Given the description of an element on the screen output the (x, y) to click on. 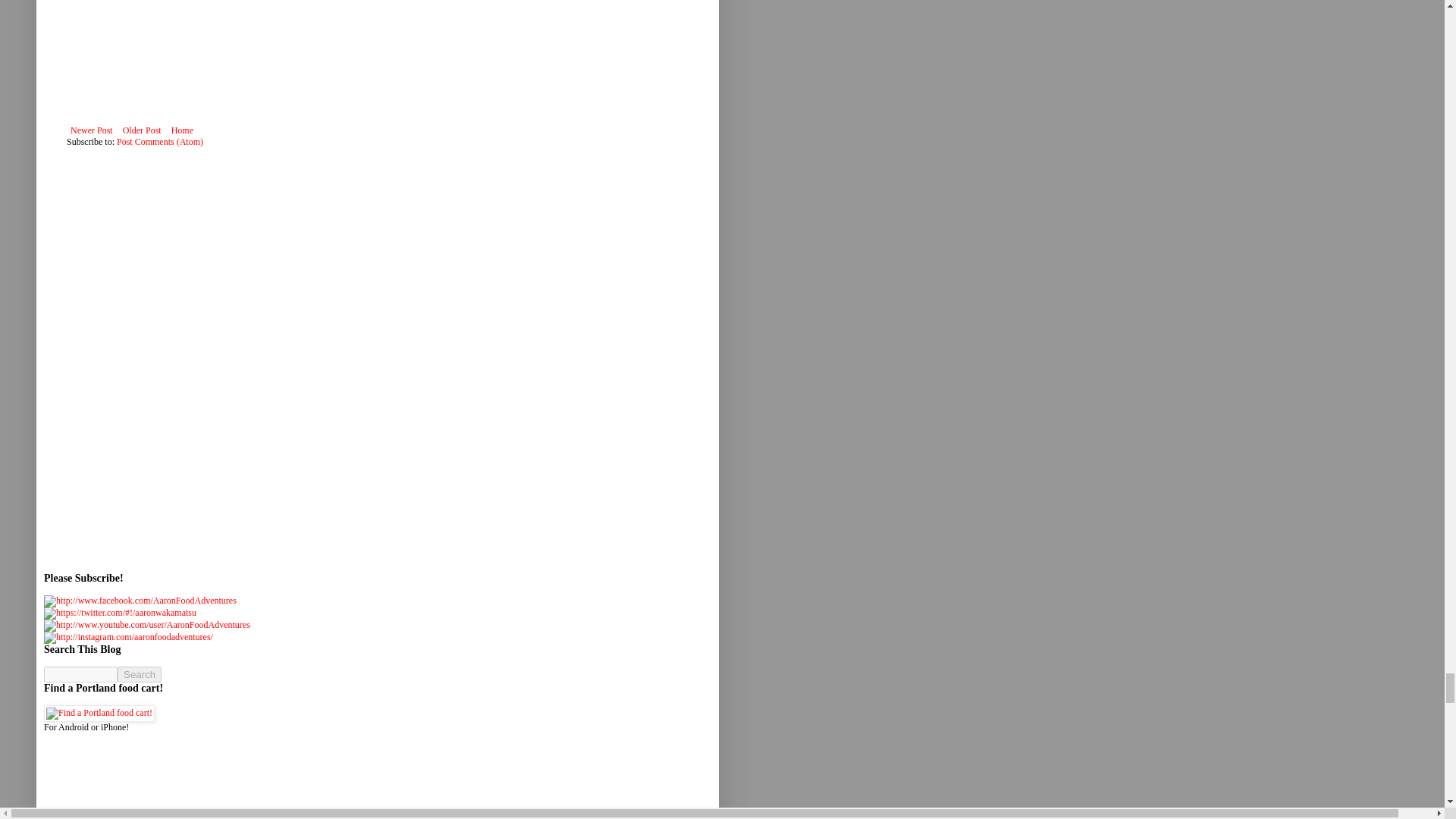
Search (139, 674)
Search (139, 674)
Older Post (142, 130)
Become a fan of my Facebook page! (139, 601)
Newer Post (91, 130)
